Given the description of an element on the screen output the (x, y) to click on. 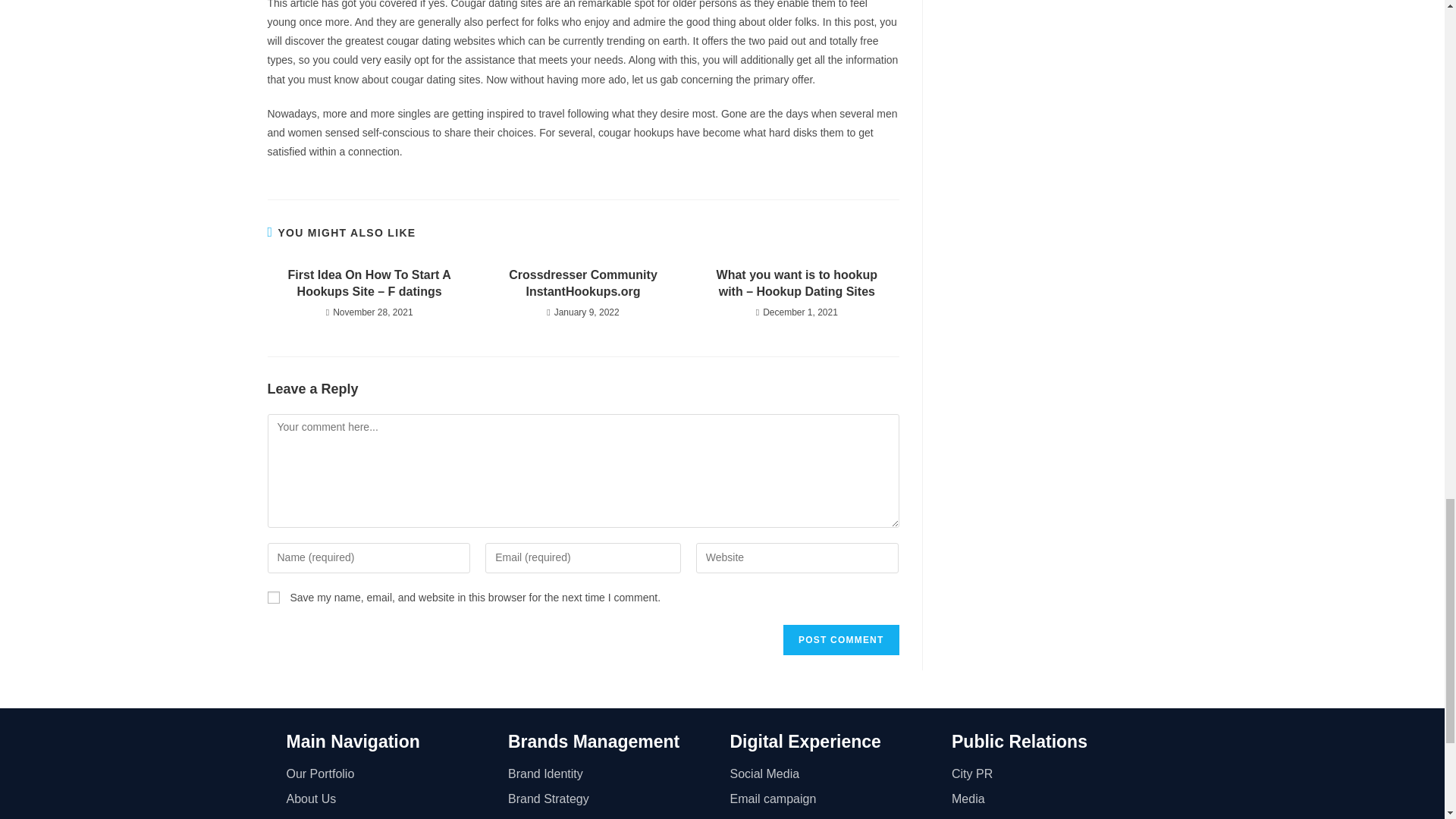
Contact us (389, 816)
Our Portfolio (389, 774)
Post Comment (840, 639)
Crossdresser Community InstantHookups.org (582, 283)
About Us (389, 799)
Digital Experience (804, 741)
Brands Management (593, 741)
Brand Strategy (611, 799)
Social Media (832, 774)
Post Comment (840, 639)
Brand Identity (611, 774)
Brand Positioning (611, 816)
yes (272, 597)
